Given the description of an element on the screen output the (x, y) to click on. 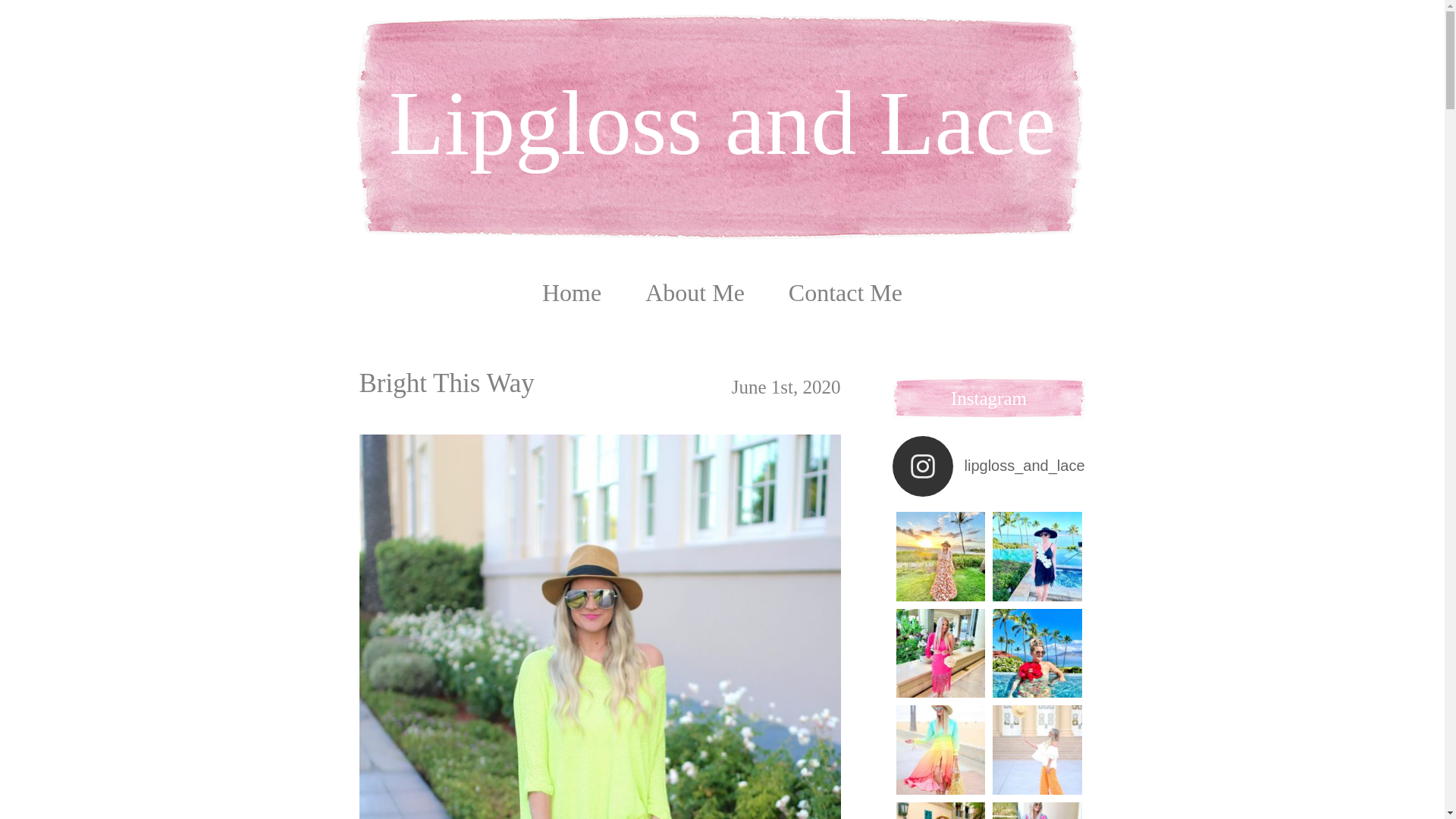
Lipgloss and Lace (722, 92)
Home (571, 293)
About Me (694, 293)
Contact Me (845, 293)
